Given the description of an element on the screen output the (x, y) to click on. 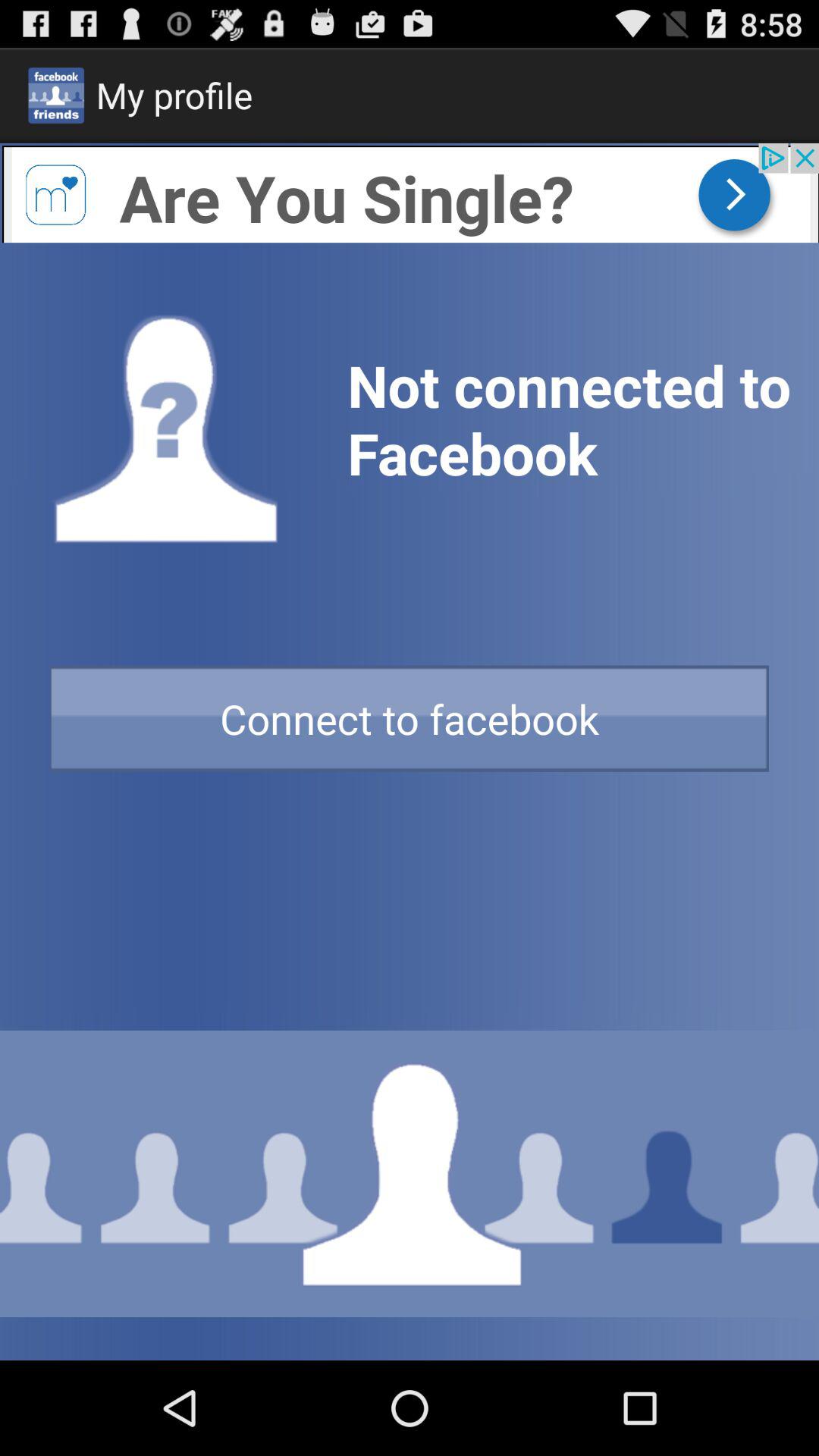
go next (409, 192)
